Given the description of an element on the screen output the (x, y) to click on. 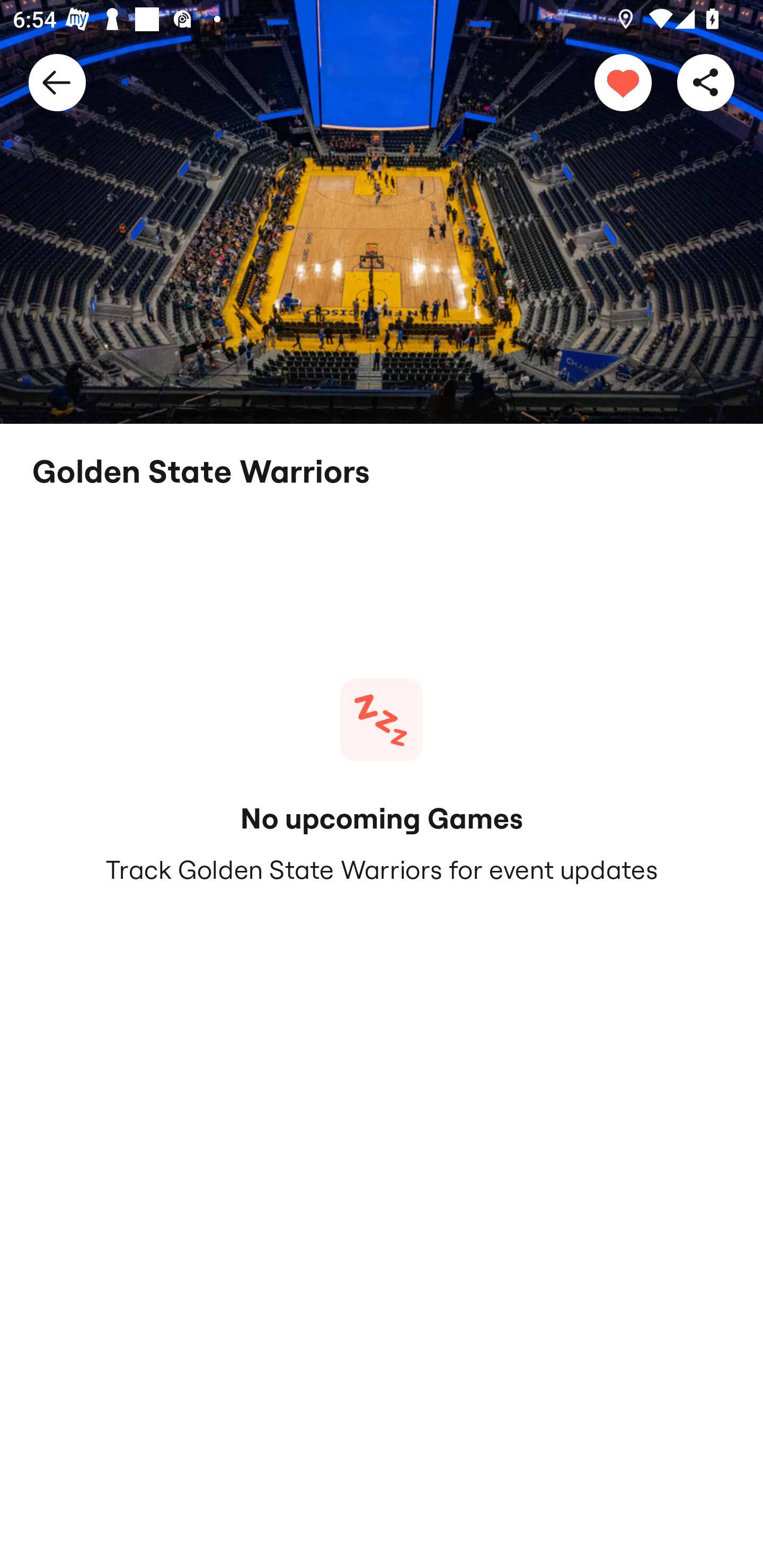
Back (57, 81)
Track this performer (623, 81)
Share this performer (705, 81)
